Given the description of an element on the screen output the (x, y) to click on. 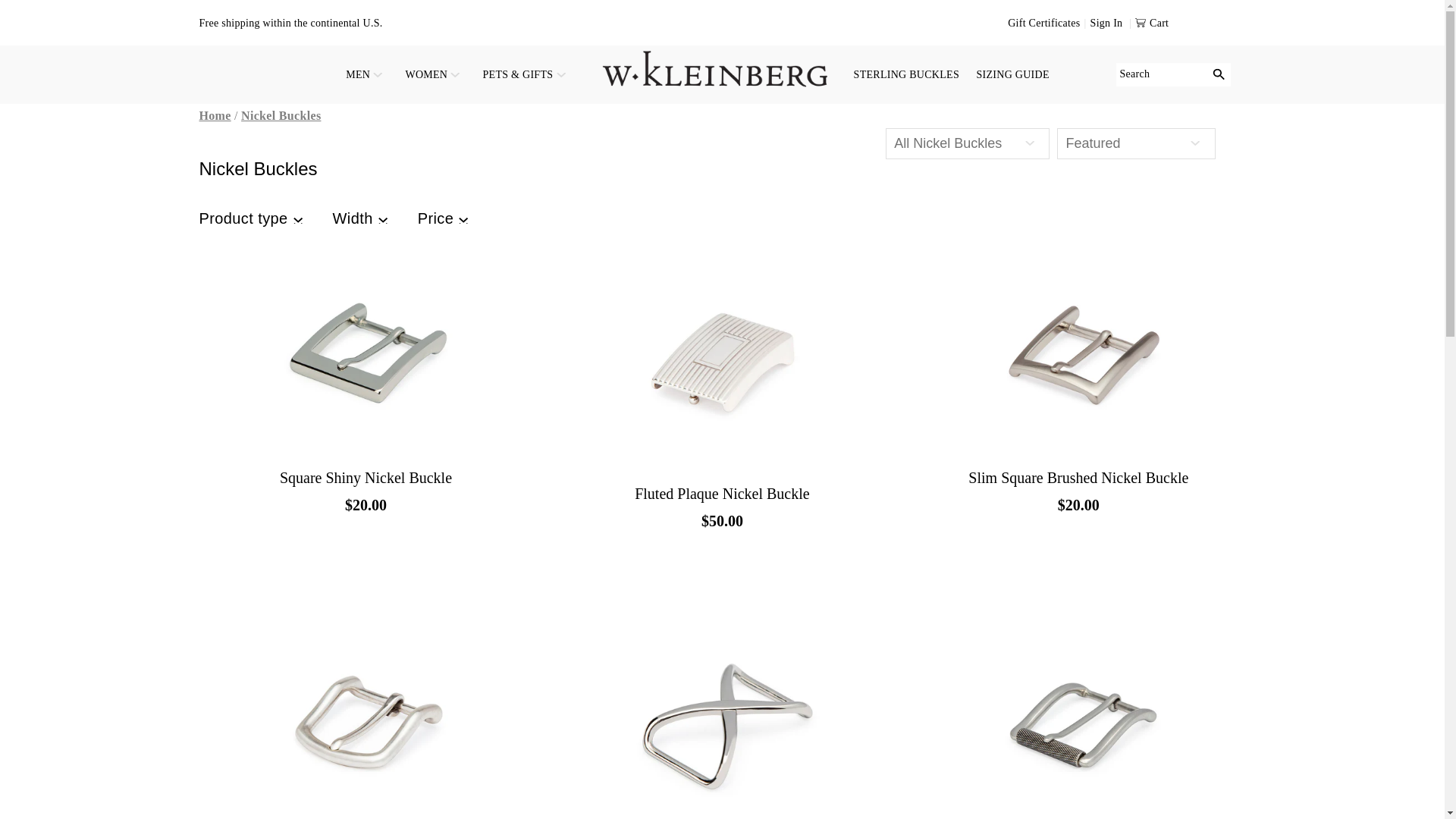
MEN (366, 74)
w.kleinberg (214, 115)
Cart (1182, 23)
Nickel Buckles (280, 115)
Gift Certificates (1048, 23)
WOMEN (435, 74)
w.kleinberg (713, 65)
Sign In (1112, 23)
